Given the description of an element on the screen output the (x, y) to click on. 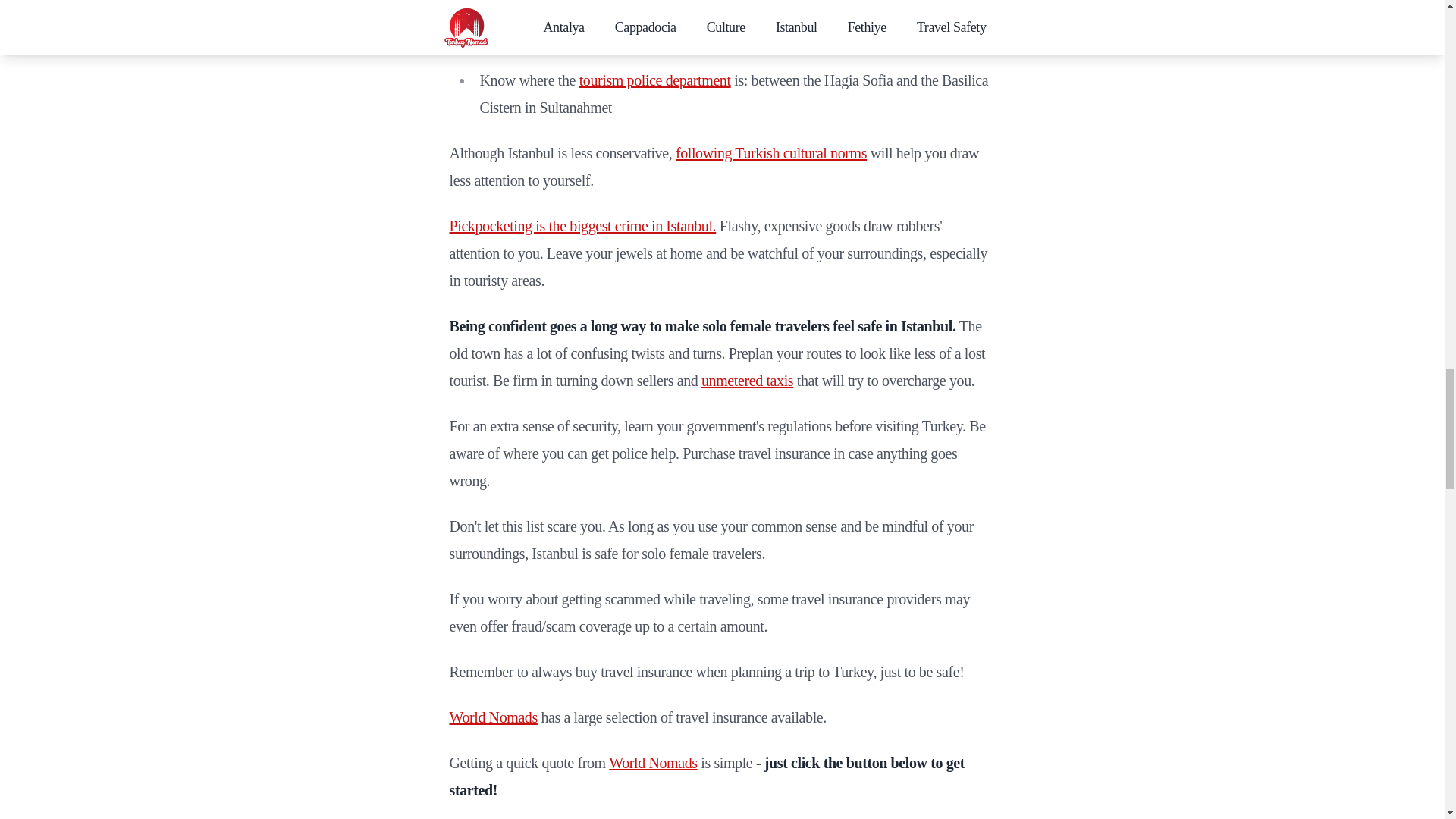
unmetered taxis (747, 380)
World Nomads (652, 762)
tourism police department (654, 80)
Pickpocketing is the biggest crime in Istanbul. (582, 225)
following Turkish cultural norms (770, 152)
World Nomads (492, 717)
